Given the description of an element on the screen output the (x, y) to click on. 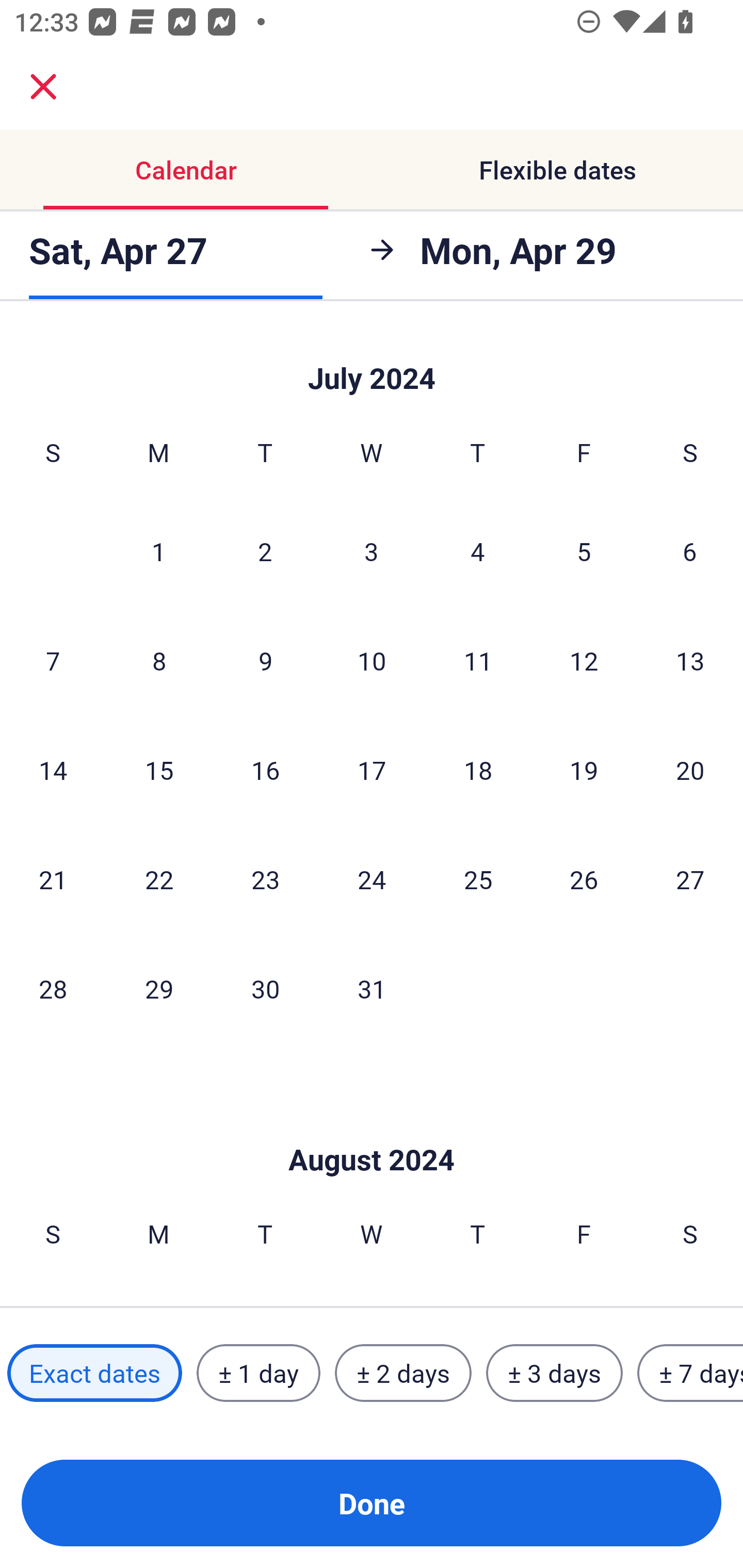
close. (43, 86)
Flexible dates (557, 170)
Skip to Done (371, 360)
1 Monday, July 1, 2024 (158, 550)
2 Tuesday, July 2, 2024 (264, 550)
3 Wednesday, July 3, 2024 (371, 550)
4 Thursday, July 4, 2024 (477, 550)
5 Friday, July 5, 2024 (583, 550)
6 Saturday, July 6, 2024 (689, 550)
7 Sunday, July 7, 2024 (53, 660)
8 Monday, July 8, 2024 (159, 660)
9 Tuesday, July 9, 2024 (265, 660)
10 Wednesday, July 10, 2024 (371, 660)
11 Thursday, July 11, 2024 (477, 660)
12 Friday, July 12, 2024 (584, 660)
13 Saturday, July 13, 2024 (690, 660)
14 Sunday, July 14, 2024 (53, 769)
15 Monday, July 15, 2024 (159, 769)
16 Tuesday, July 16, 2024 (265, 769)
17 Wednesday, July 17, 2024 (371, 769)
18 Thursday, July 18, 2024 (477, 769)
19 Friday, July 19, 2024 (584, 769)
20 Saturday, July 20, 2024 (690, 769)
21 Sunday, July 21, 2024 (53, 878)
22 Monday, July 22, 2024 (159, 878)
23 Tuesday, July 23, 2024 (265, 878)
24 Wednesday, July 24, 2024 (371, 878)
25 Thursday, July 25, 2024 (477, 878)
26 Friday, July 26, 2024 (584, 878)
27 Saturday, July 27, 2024 (690, 878)
28 Sunday, July 28, 2024 (53, 988)
29 Monday, July 29, 2024 (159, 988)
30 Tuesday, July 30, 2024 (265, 988)
31 Wednesday, July 31, 2024 (371, 988)
Skip to Done (371, 1128)
Exact dates (94, 1372)
± 1 day (258, 1372)
± 2 days (403, 1372)
± 3 days (553, 1372)
± 7 days (690, 1372)
Done (371, 1502)
